Given the description of an element on the screen output the (x, y) to click on. 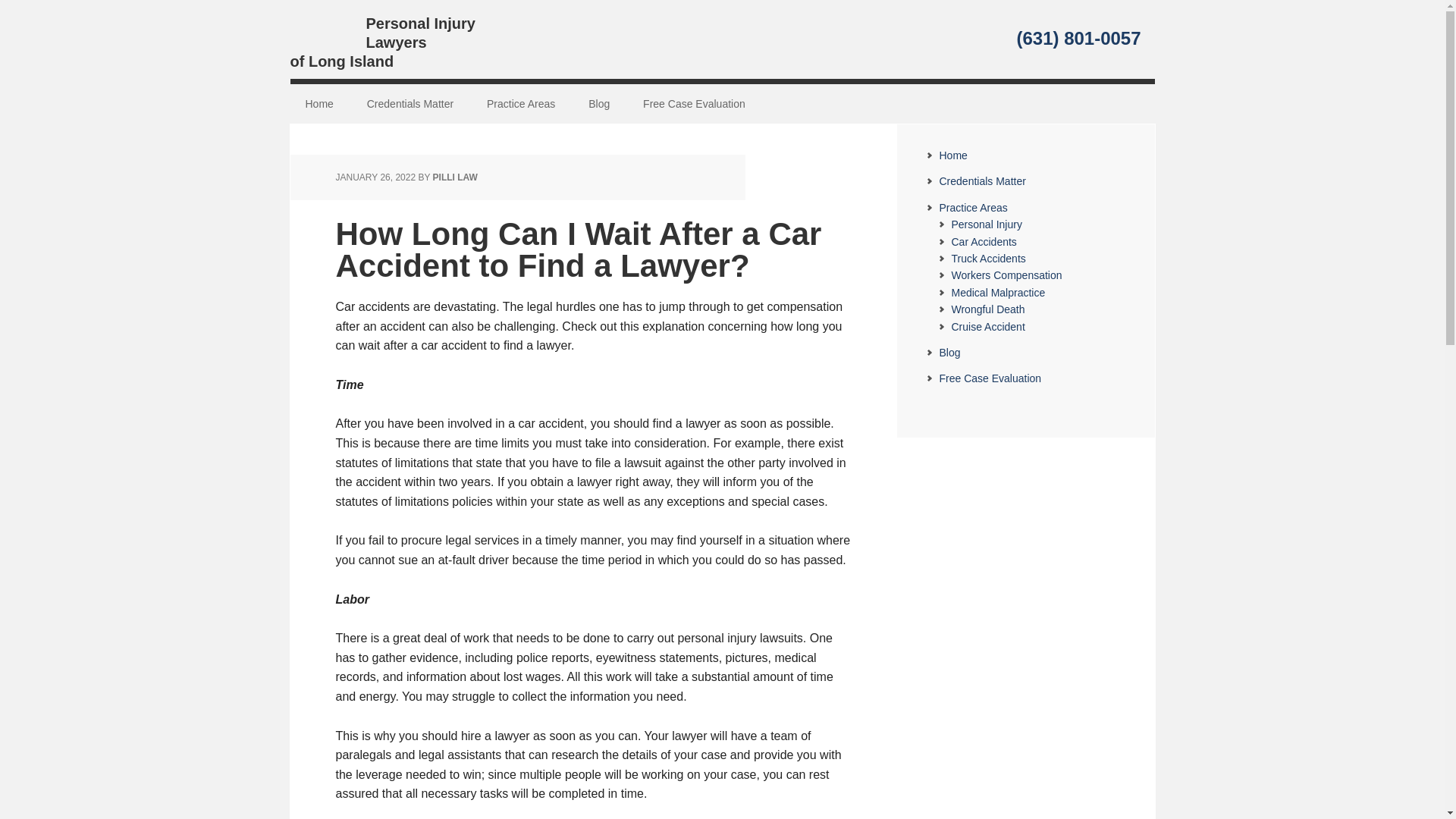
Wrongful Death (987, 309)
Truck Accidents (987, 258)
Cruise Accident (987, 326)
Blog (598, 104)
Home (952, 155)
Free Case Evaluation (693, 104)
Practice Areas (973, 207)
Free Case Evaluation (990, 378)
Home (318, 104)
Car Accidents (983, 241)
